Given the description of an element on the screen output the (x, y) to click on. 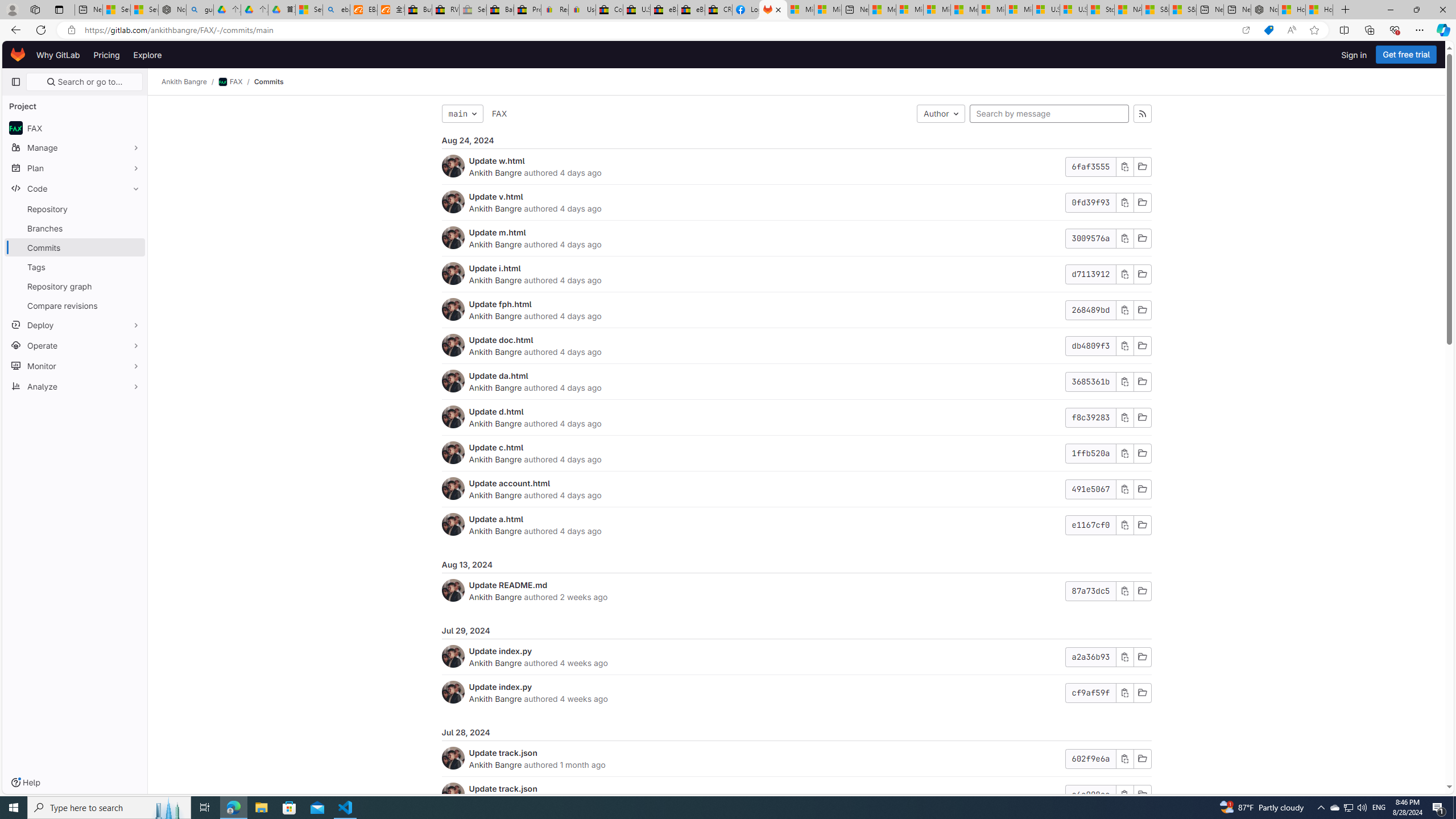
Ankith Bangre's avatar (452, 793)
avatar FAX (74, 127)
Commits feed (1141, 113)
Commits (268, 81)
Update da.htmlAnkith Bangre authored 4 days ago3685361b (796, 381)
Ankith Bangre's avatar (452, 793)
Update v.htmlAnkith Bangre authored 4 days ago0fd39f93 (796, 202)
Update fph.htmlAnkith Bangre authored 4 days ago268489bd (796, 310)
Sell worldwide with eBay - Sleeping (473, 9)
Manage (74, 147)
Press Room - eBay Inc. (527, 9)
Update index.pyAnkith Bangre authored 4 weeks agocf9af59f (796, 692)
